Given the description of an element on the screen output the (x, y) to click on. 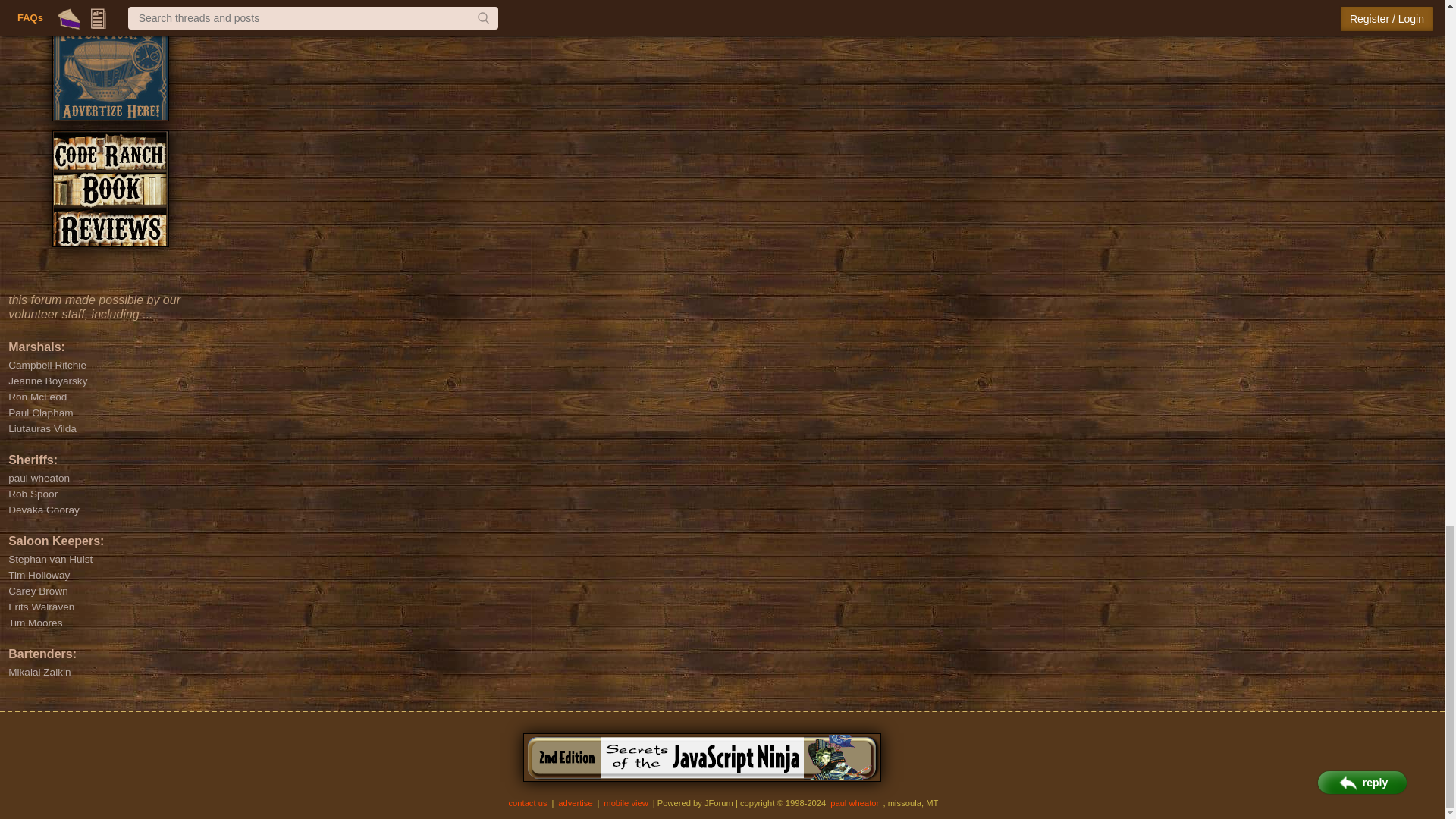
mobile view (626, 802)
